Given the description of an element on the screen output the (x, y) to click on. 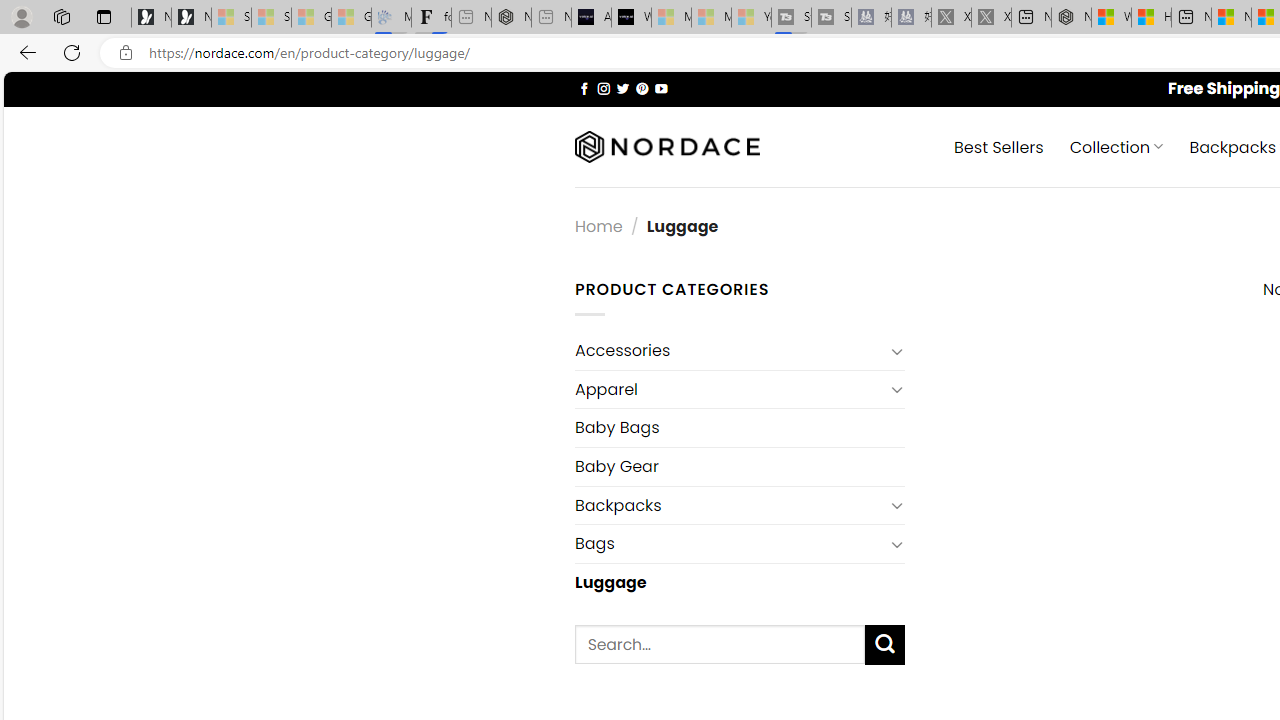
Backpacks (729, 505)
Microsoft Start Sports - Sleeping (671, 17)
Home (598, 227)
X - Sleeping (991, 17)
Baby Bags (739, 427)
Microsoft Start - Sleeping (711, 17)
  Best Sellers (998, 146)
